Given the description of an element on the screen output the (x, y) to click on. 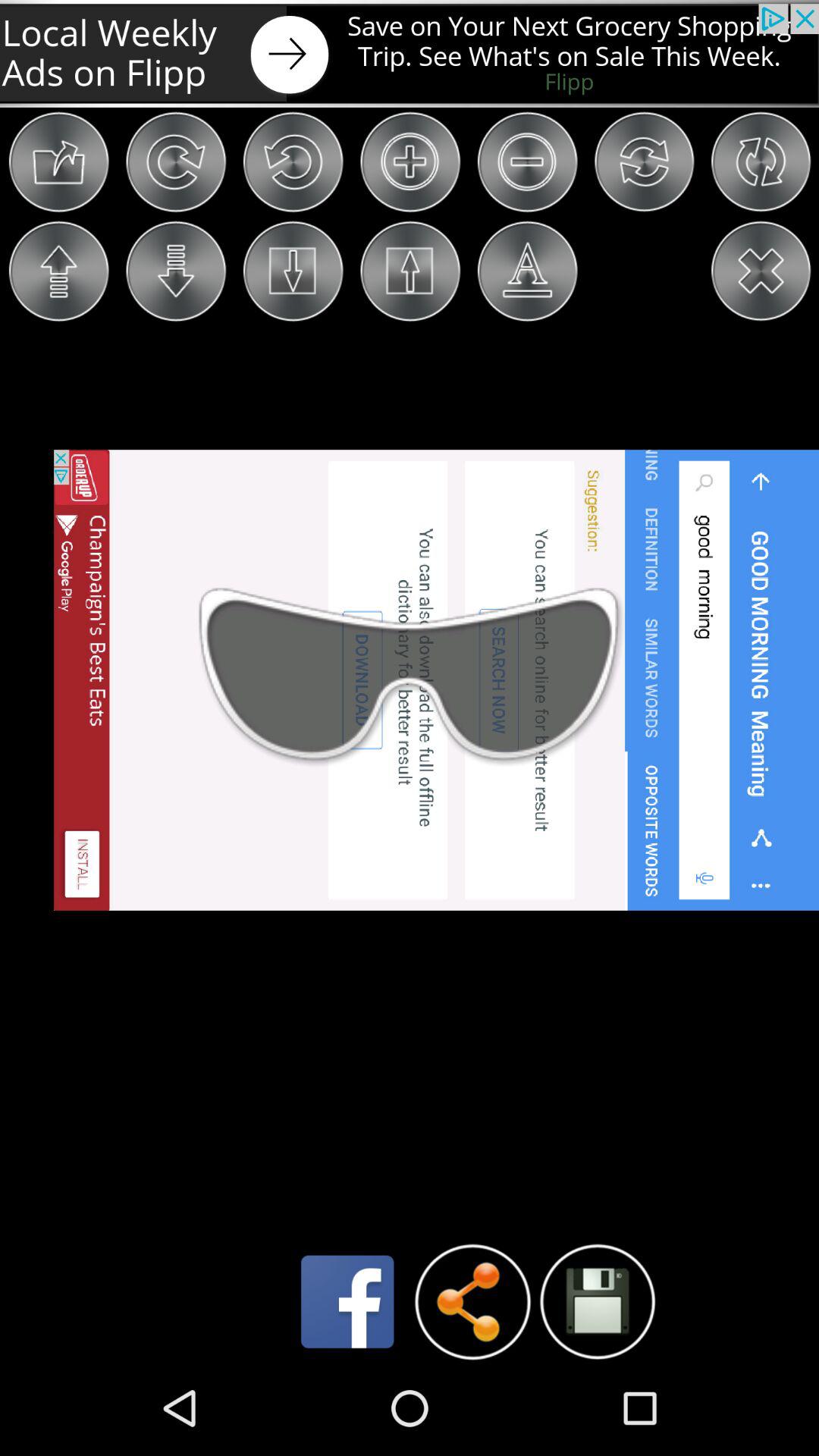
save (597, 1301)
